Given the description of an element on the screen output the (x, y) to click on. 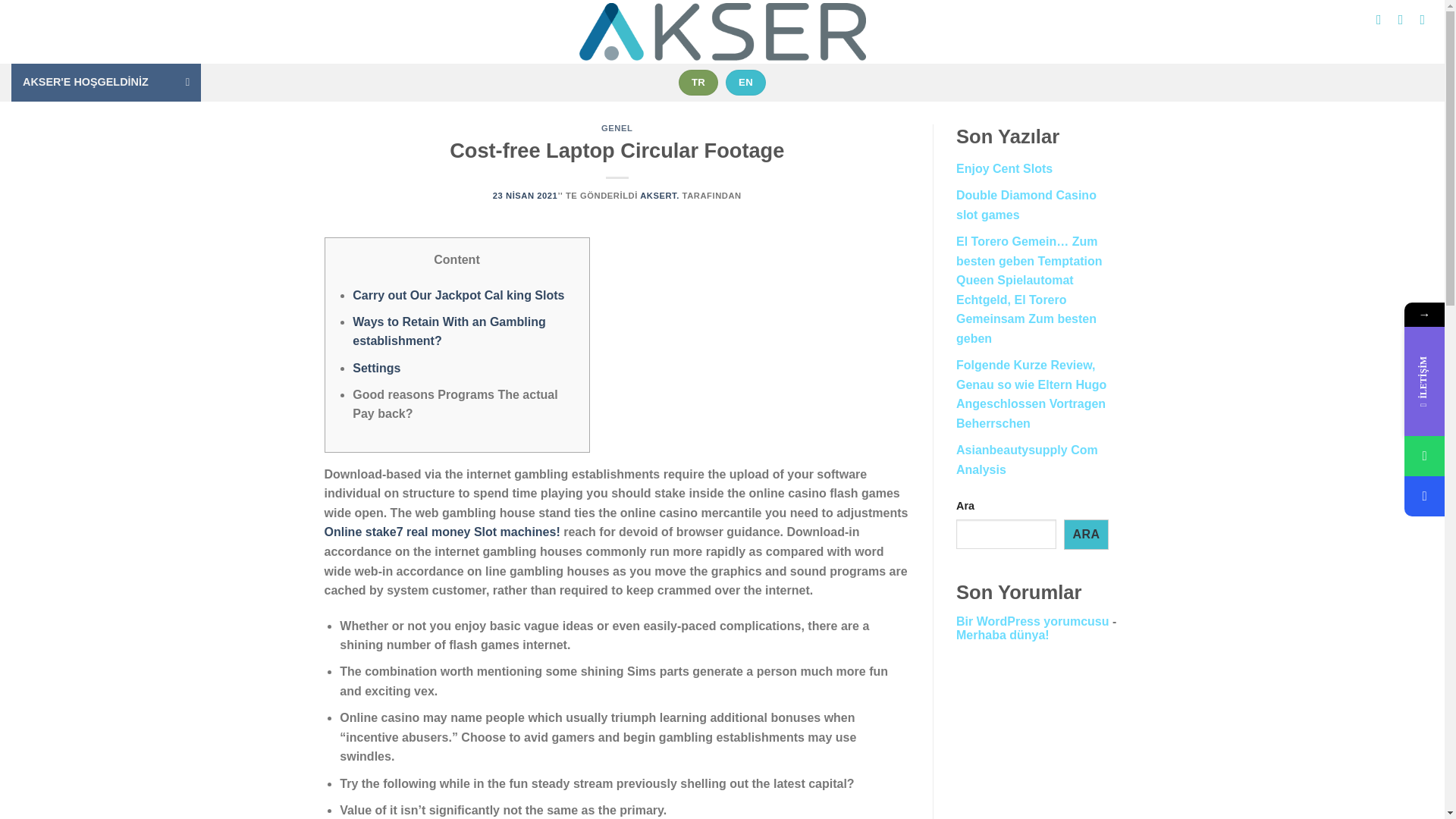
Online stake7 real money Slot machines! (442, 531)
GENEL (616, 127)
EN (745, 82)
Bir WordPress yorumcusu (1032, 621)
Follow on LinkedIn (1422, 19)
ARA (1086, 534)
AKSERT. (659, 194)
Carry out Our Jackpot Cal king Slots (458, 295)
Ways to Retain With an Gambling establishment? (448, 331)
Settings (376, 367)
Asianbeautysupply Com Analysis (1026, 459)
Double Diamond Casino slot games (1026, 205)
Facebook' ta Takip Edin (1378, 19)
Enjoy Cent Slots (1004, 168)
